Given the description of an element on the screen output the (x, y) to click on. 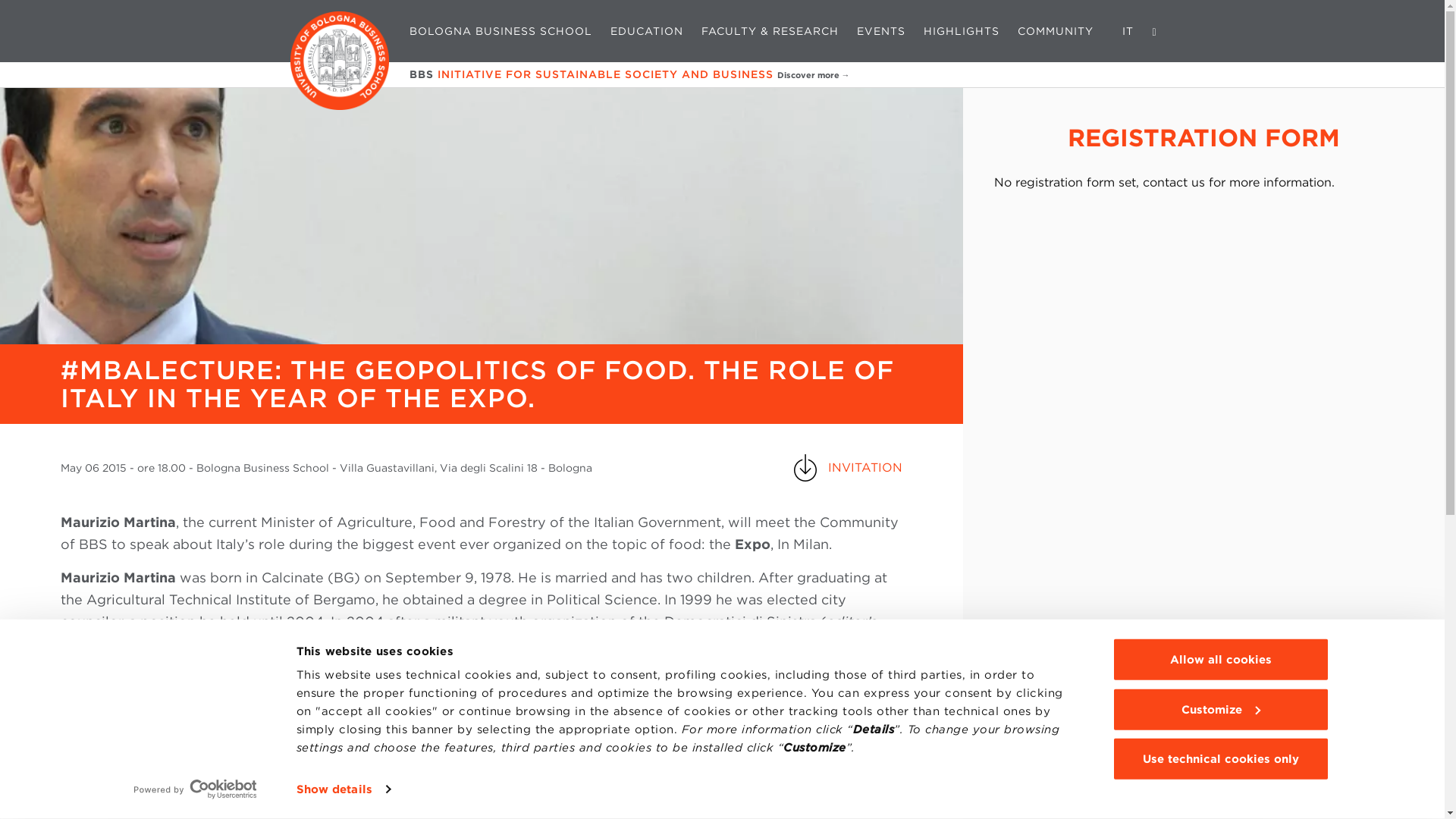
Show details (343, 789)
Cerca (1154, 30)
